Given the description of an element on the screen output the (x, y) to click on. 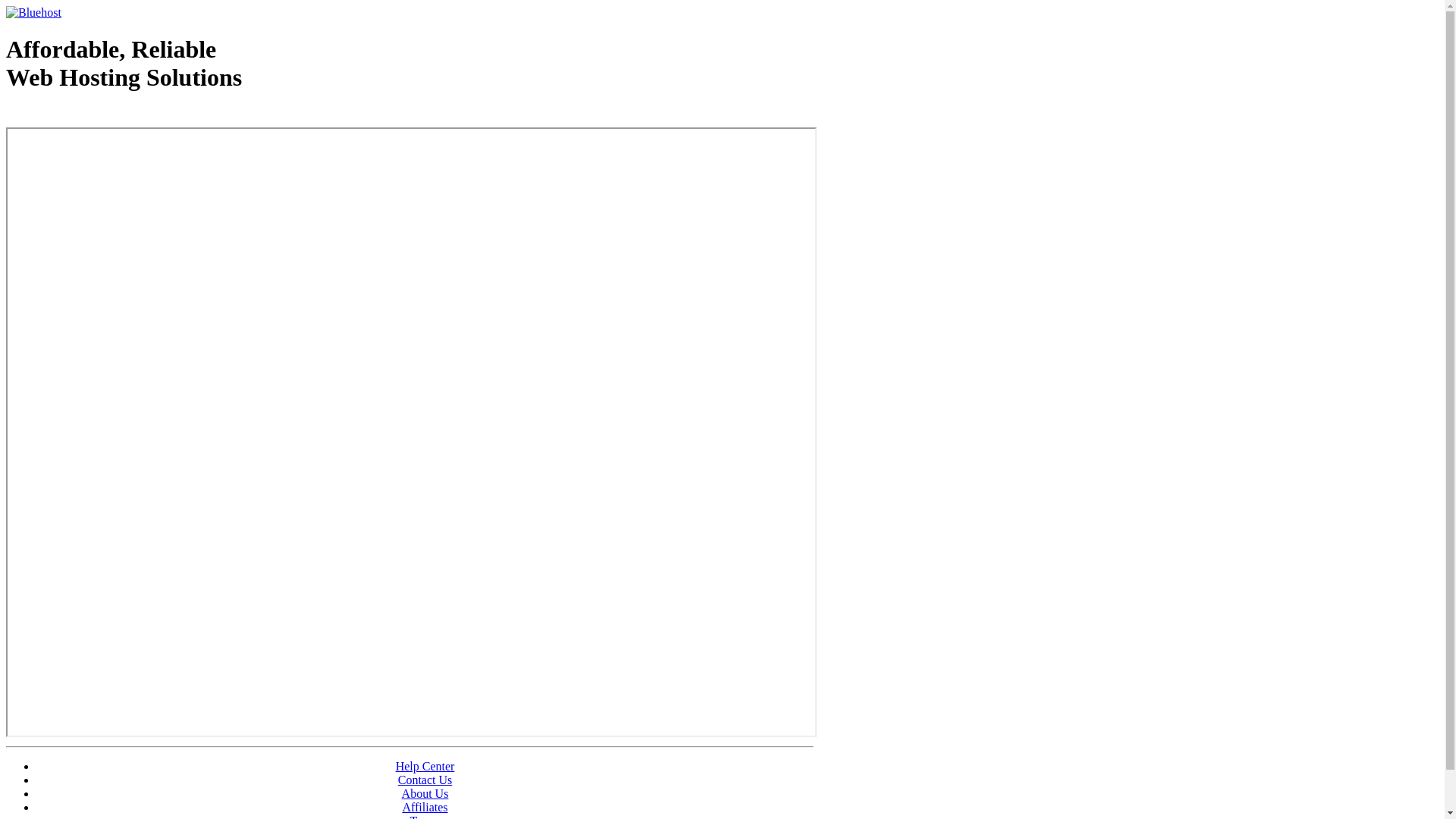
About Us Element type: text (424, 793)
Affiliates Element type: text (424, 806)
Contact Us Element type: text (425, 779)
Web Hosting - courtesy of www.bluehost.com Element type: text (94, 115)
Help Center Element type: text (425, 765)
